Given the description of an element on the screen output the (x, y) to click on. 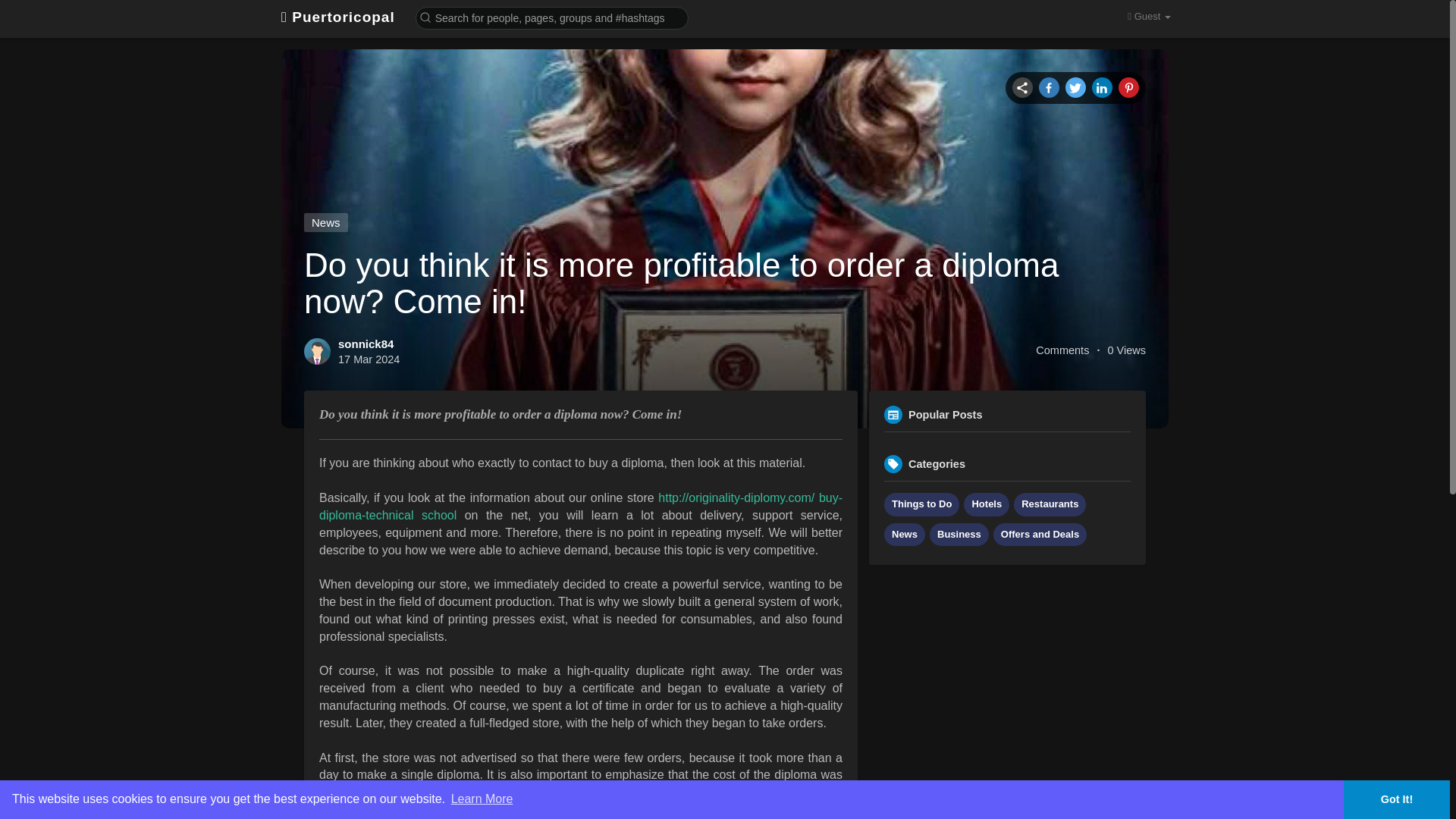
Timeline (1021, 86)
Facebook (1048, 86)
News (325, 221)
Restaurants (1049, 504)
Hotels (986, 504)
 Puertoricopal (337, 17)
sonnick84 (365, 343)
Comments (1062, 350)
Things to Do (921, 504)
Pinterest (1128, 86)
Learn More (481, 798)
Twitter (1075, 86)
Guest (1148, 17)
News (903, 535)
Offers and Deals (1039, 535)
